Given the description of an element on the screen output the (x, y) to click on. 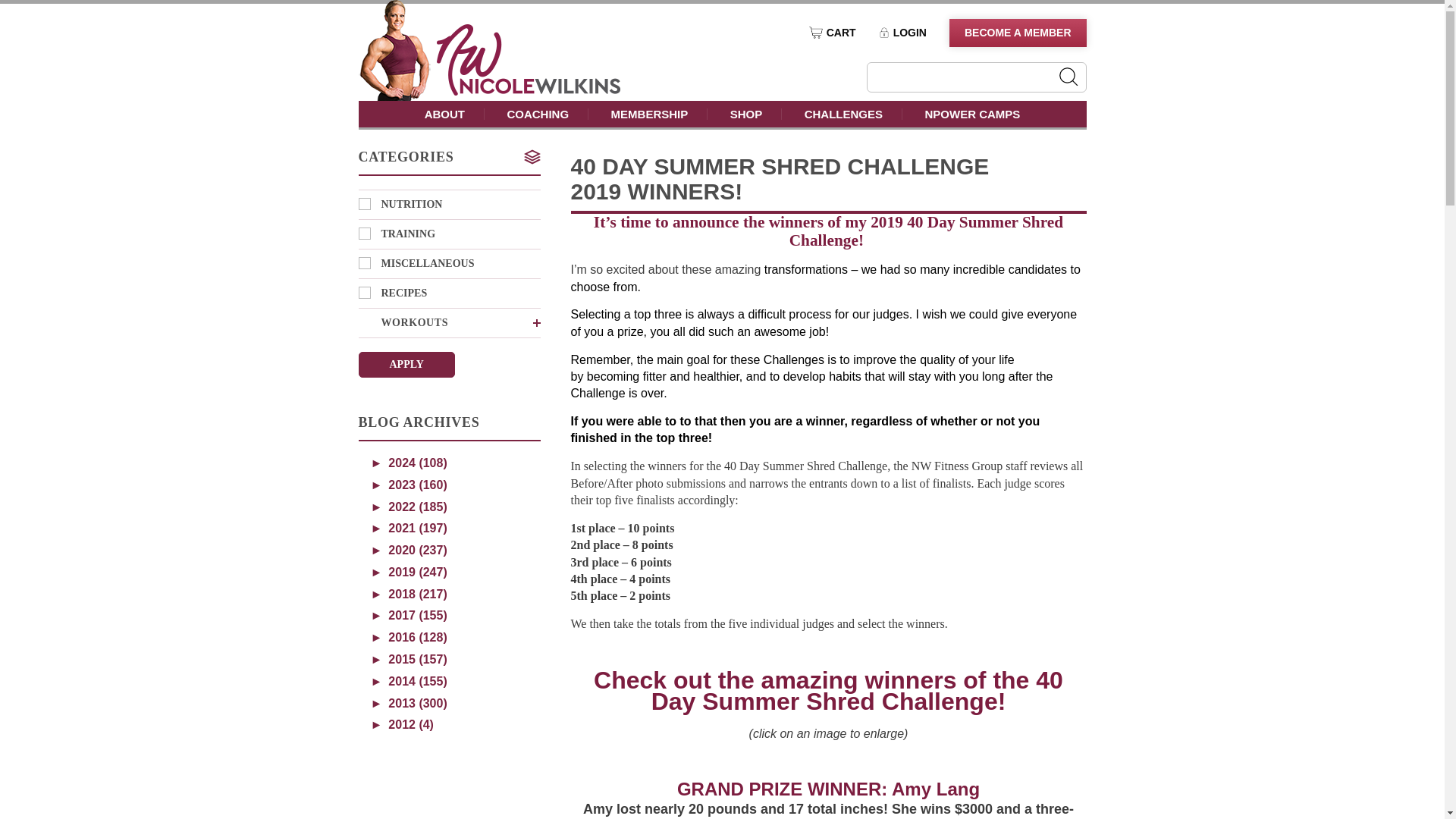
Search (1068, 76)
Search (1068, 76)
2024 (407, 462)
ABOUT (445, 113)
Nicole Wilkins (528, 91)
Search (1068, 76)
BECOME A MEMBER (1017, 32)
LOGIN (902, 32)
CART (832, 32)
